Given the description of an element on the screen output the (x, y) to click on. 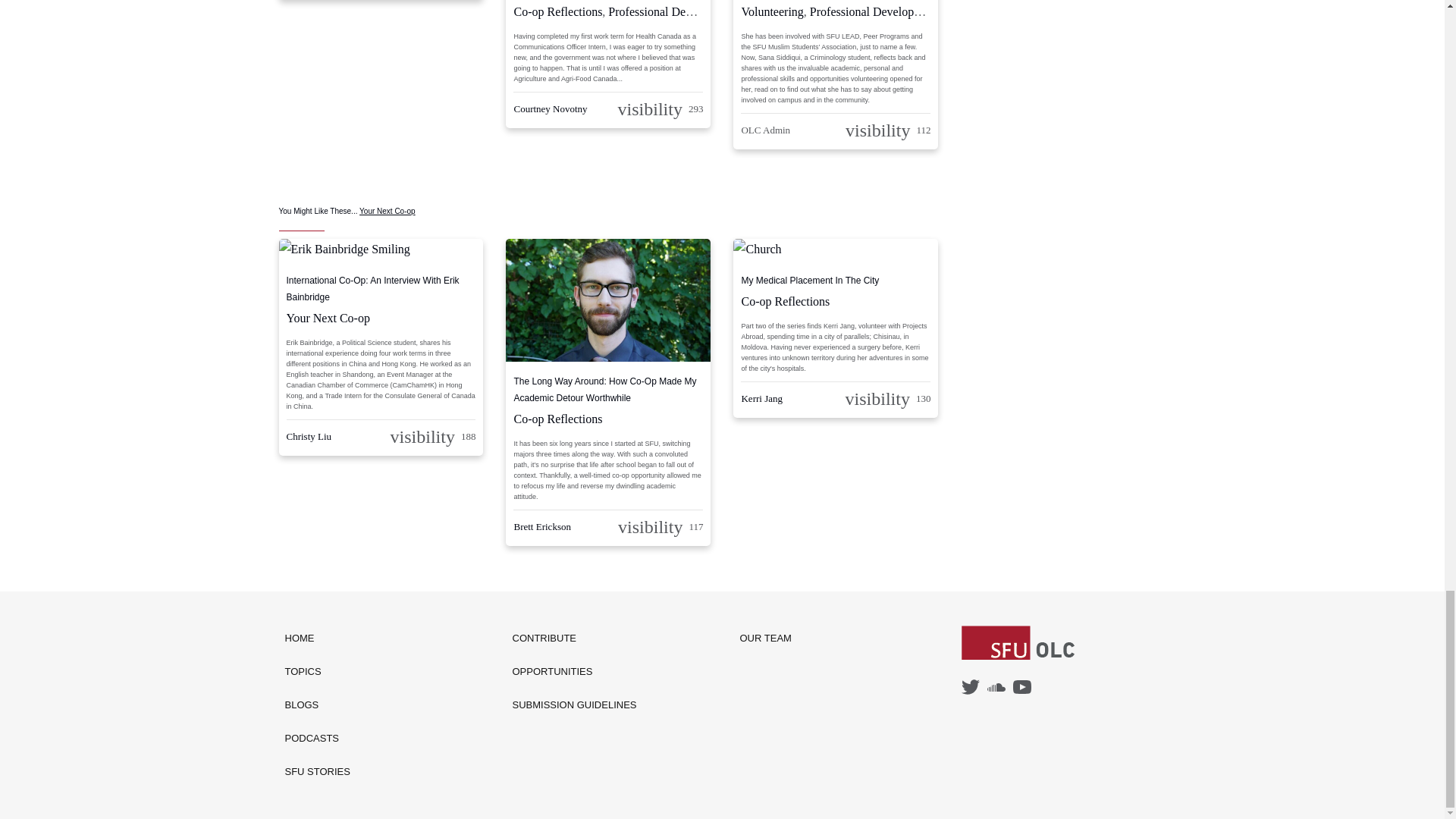
Contribute to the OLC (574, 638)
OLC Blogs (317, 704)
